Given the description of an element on the screen output the (x, y) to click on. 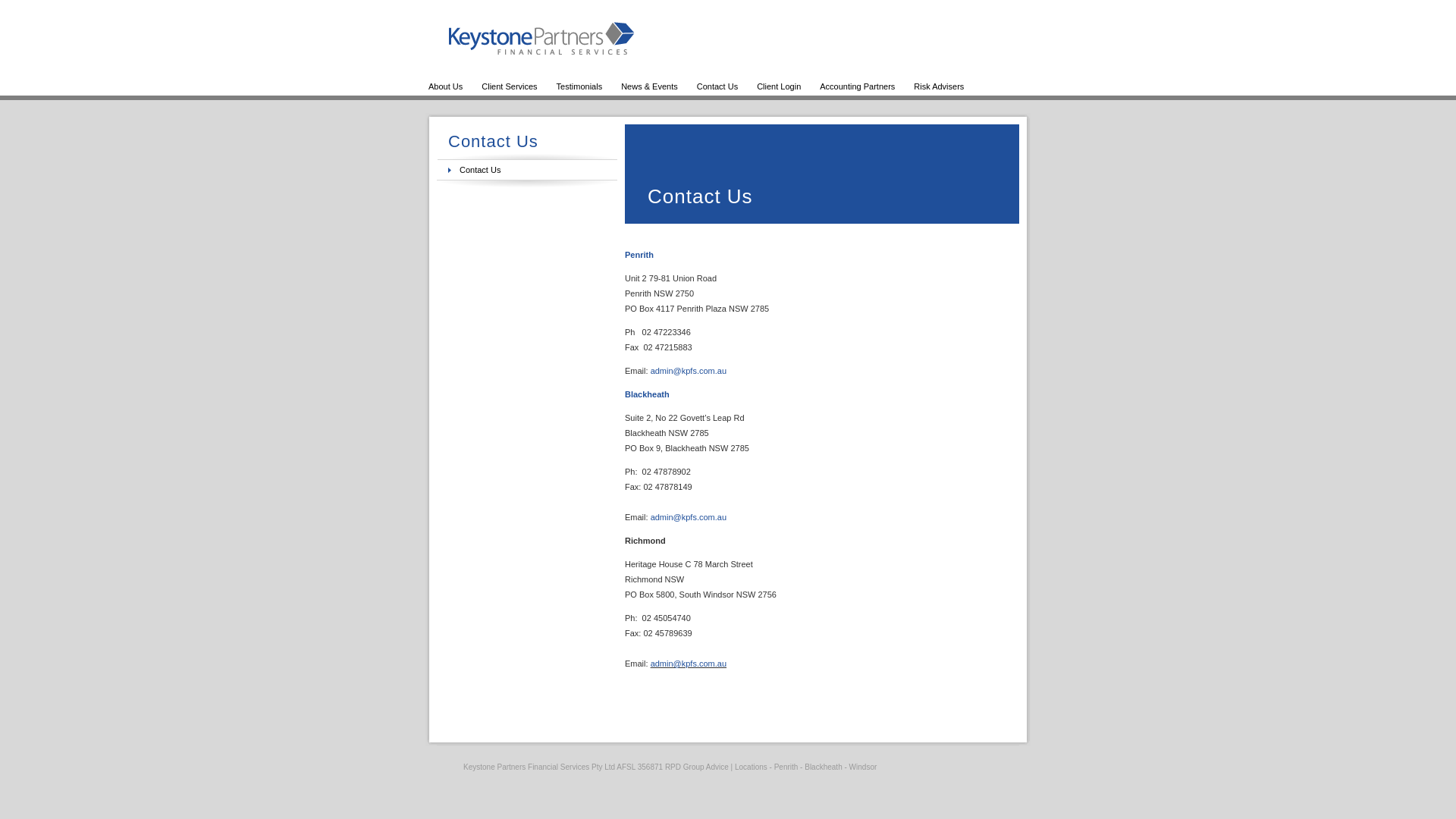
About Us Element type: text (445, 86)
admin@kpfs.com.au Element type: text (688, 663)
admin@kpfs.com.au Element type: text (688, 516)
admin@kpfs.com.au Element type: text (688, 370)
Accounting Partners Element type: text (856, 86)
Client Services Element type: text (508, 86)
News & Events Element type: text (649, 86)
Client Login Element type: text (778, 86)
Testimonials Element type: text (579, 86)
Contact Us Element type: text (716, 86)
Risk Advisers Element type: text (938, 86)
Contact Us Element type: text (479, 169)
